Given the description of an element on the screen output the (x, y) to click on. 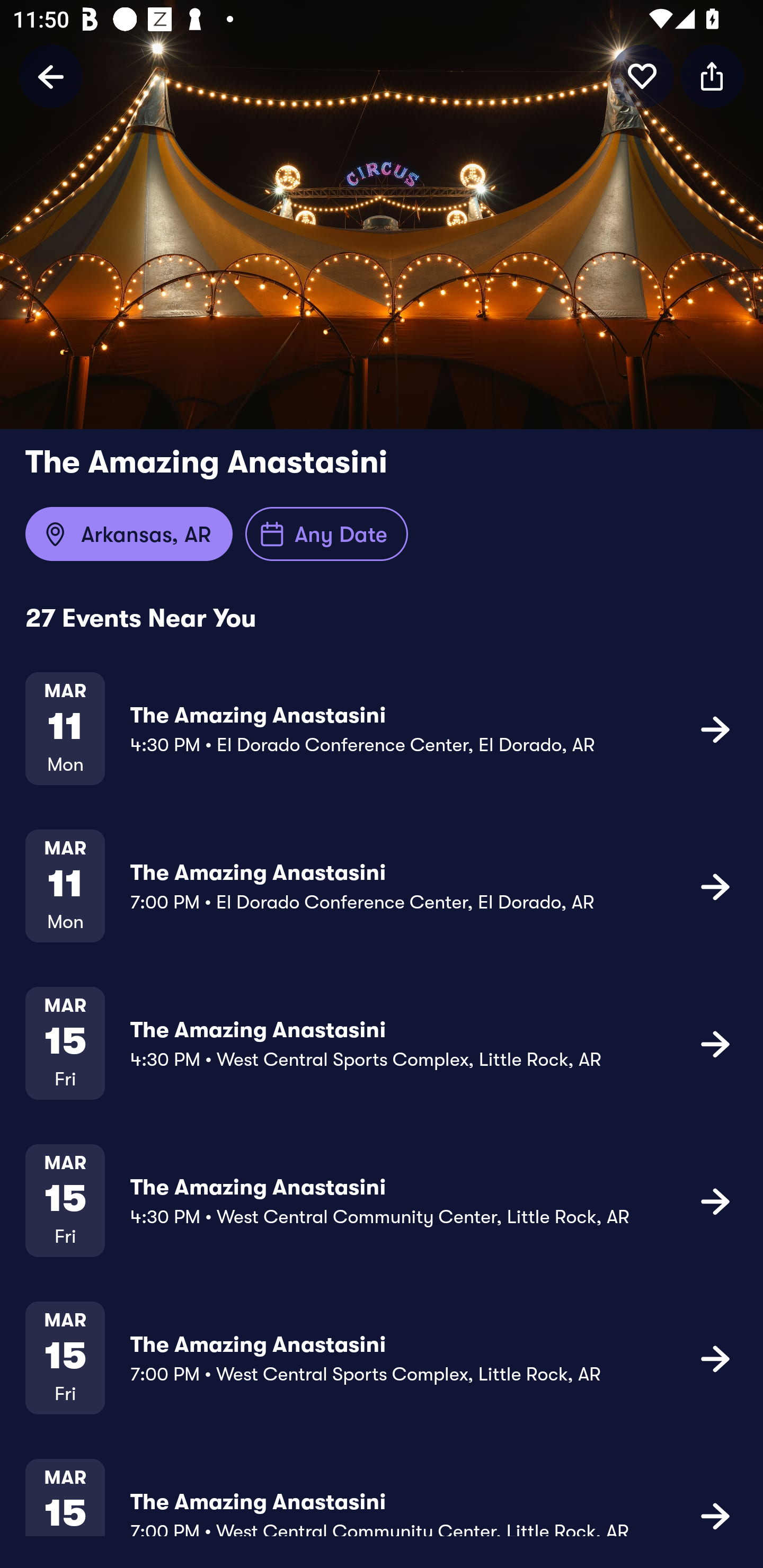
Back (50, 75)
icon button (641, 75)
icon button (711, 75)
Arkansas, AR (128, 533)
Any Date (326, 533)
icon button (714, 729)
icon button (714, 885)
icon button (714, 1043)
icon button (714, 1201)
icon button (714, 1357)
icon button (714, 1514)
